Given the description of an element on the screen output the (x, y) to click on. 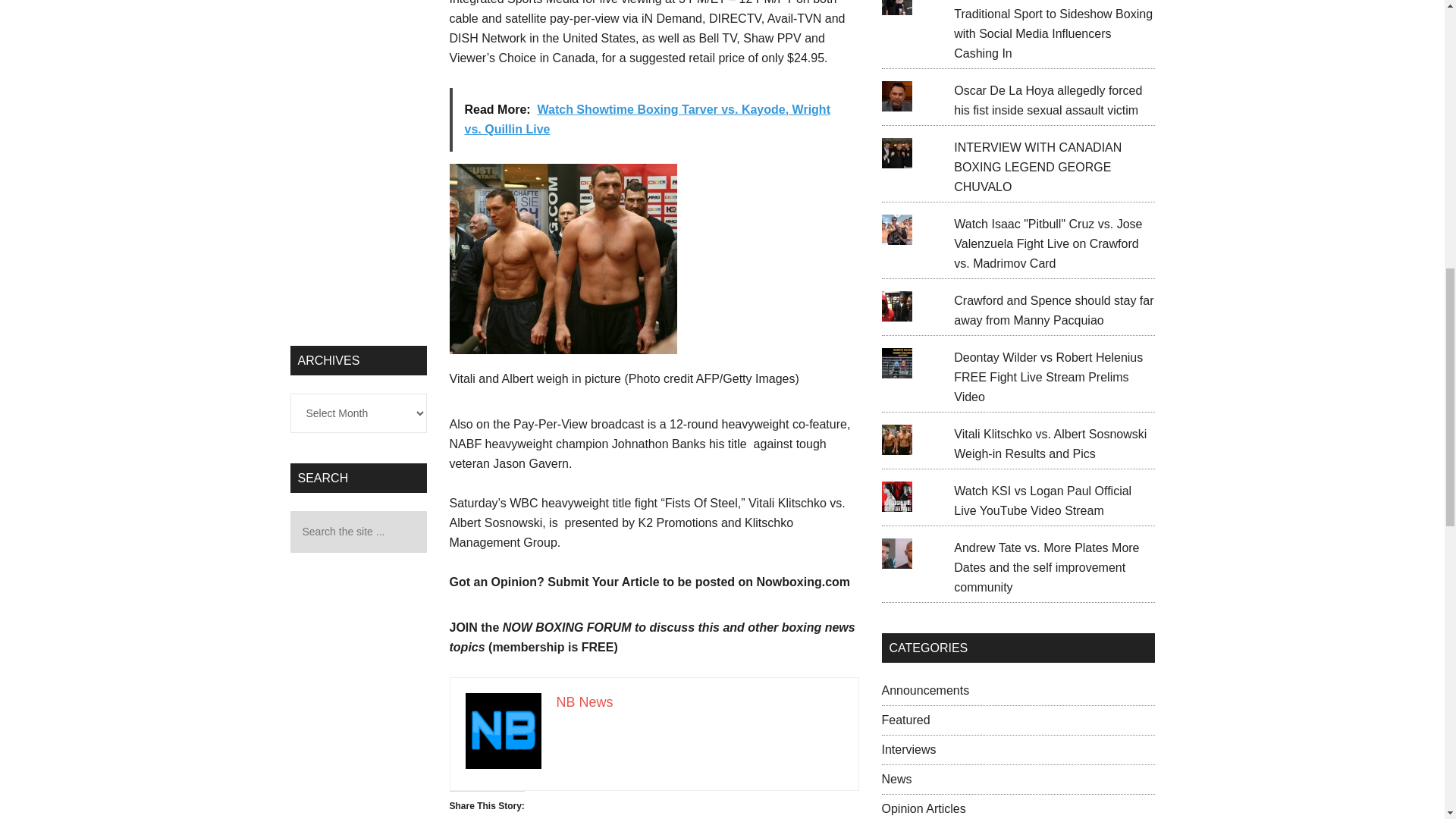
NB News (584, 702)
INTERVIEW WITH CANADIAN BOXING LEGEND GEORGE CHUVALO (1037, 166)
BOXING-WBC-GER-UKR-POL-KLITSCHKO-SOSNOWSKI (562, 258)
